Given the description of an element on the screen output the (x, y) to click on. 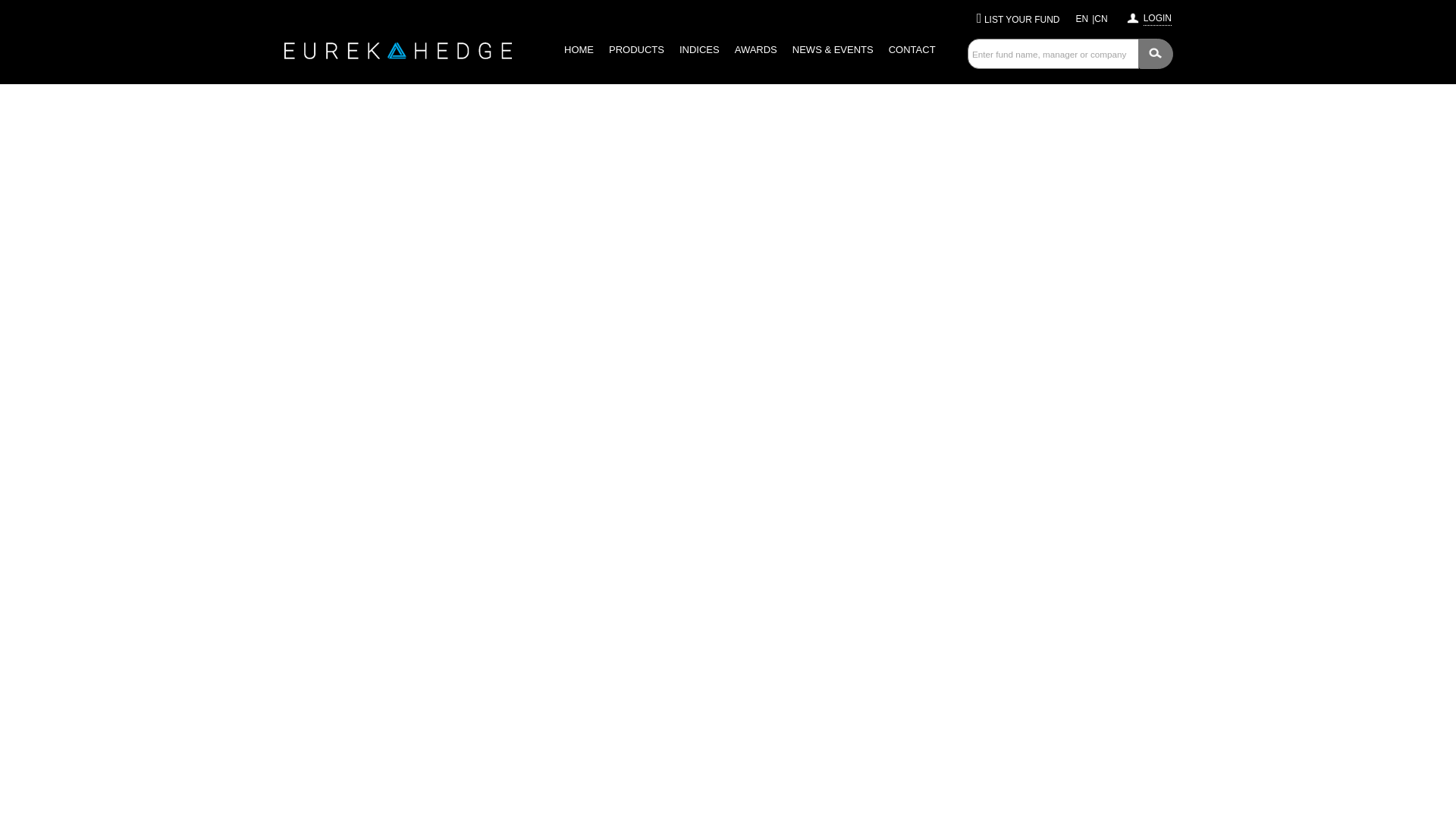
INDICES (698, 50)
EN (1082, 18)
HOME (578, 50)
CN (1100, 18)
PRODUCTS (636, 50)
LIST YOUR FUND (1021, 19)
LOGIN (1157, 16)
